Given the description of an element on the screen output the (x, y) to click on. 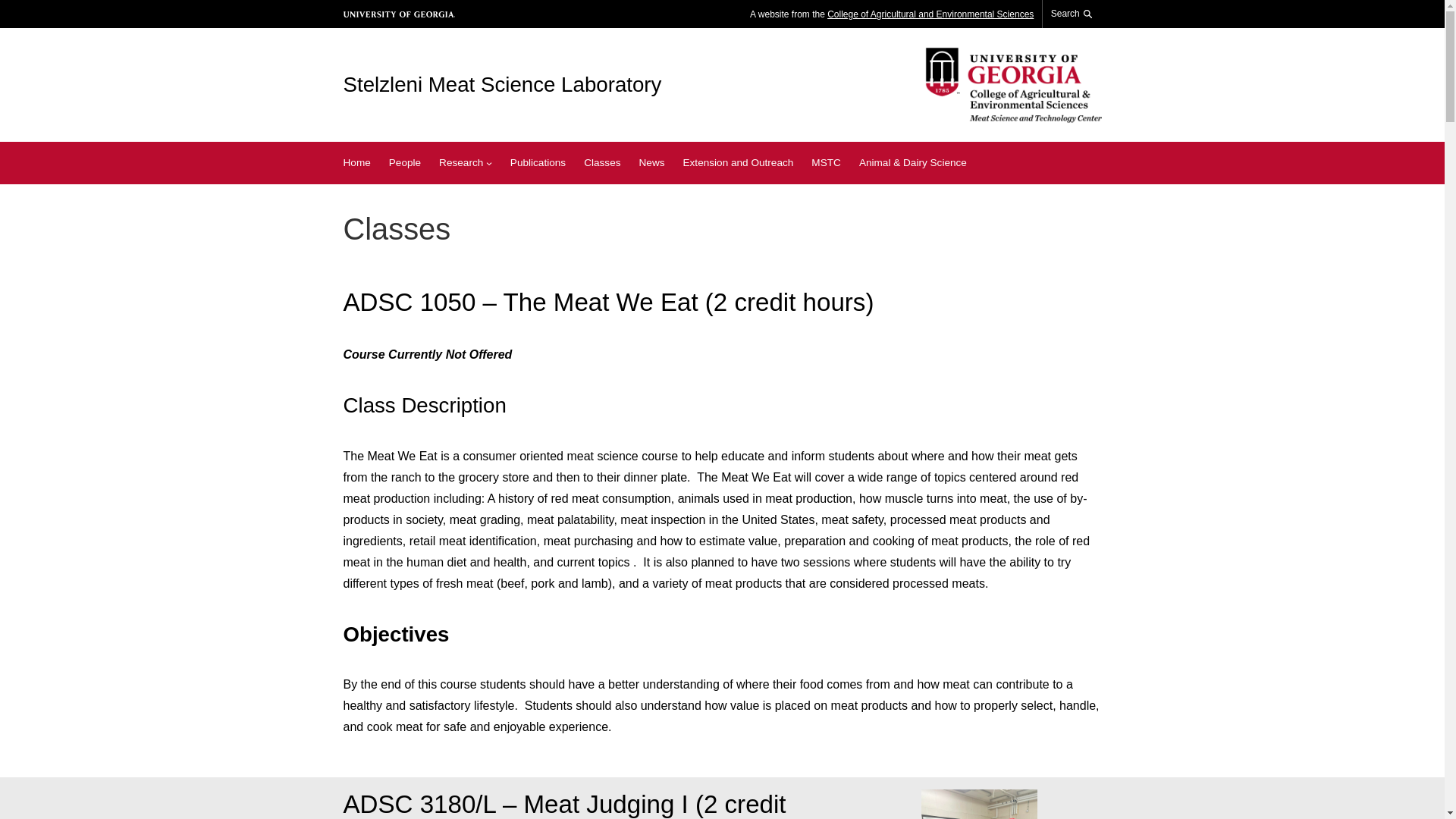
People (404, 162)
Publications (538, 162)
Classes (601, 162)
MSTC (825, 162)
College of Agricultural and Environmental Sciences (930, 14)
Home (355, 162)
Search (1071, 13)
Extension and Outreach (737, 162)
News (651, 162)
Search (1068, 51)
